Given the description of an element on the screen output the (x, y) to click on. 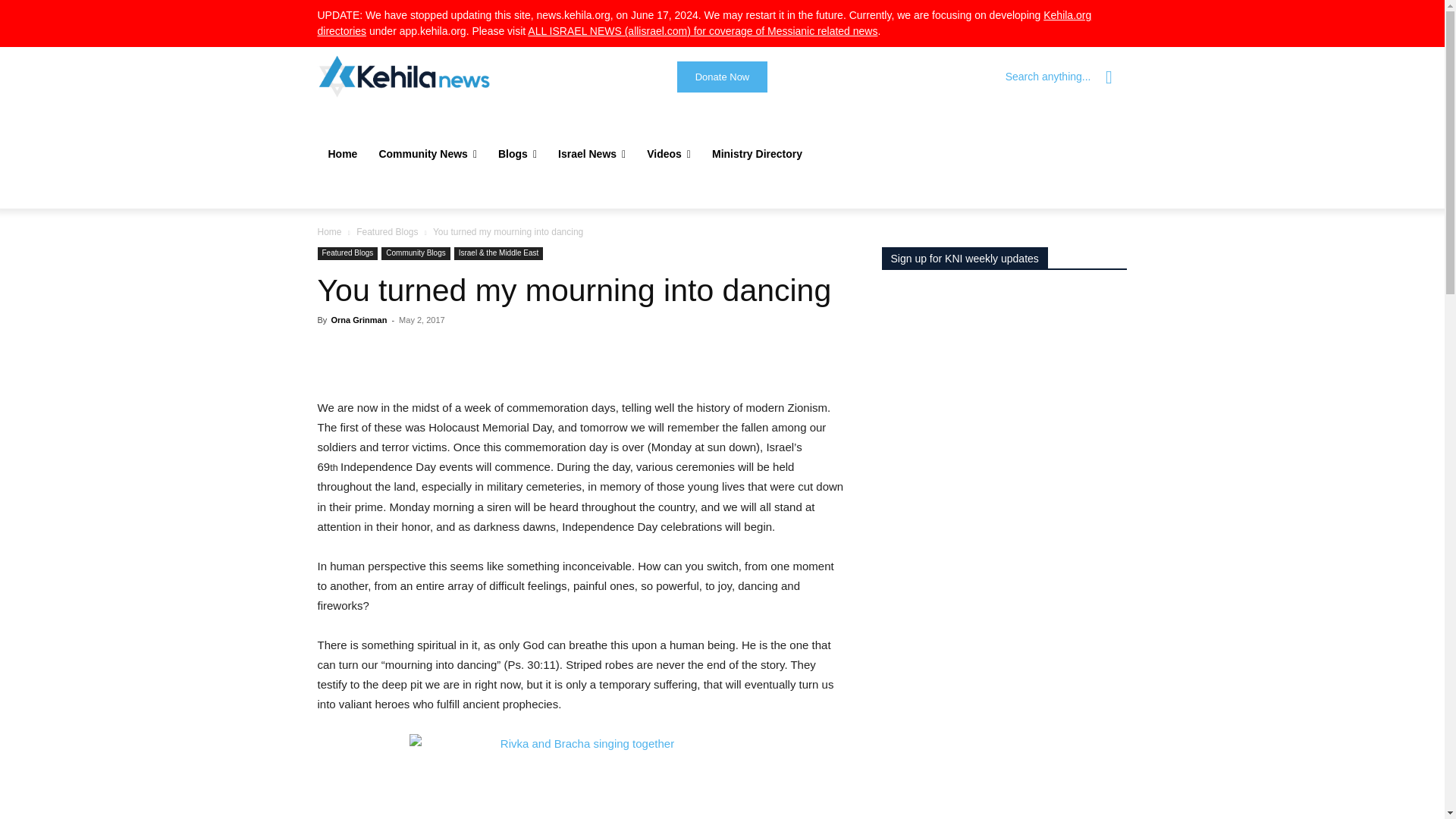
Kehila.org directories (703, 22)
Donate Now (722, 76)
